Given the description of an element on the screen output the (x, y) to click on. 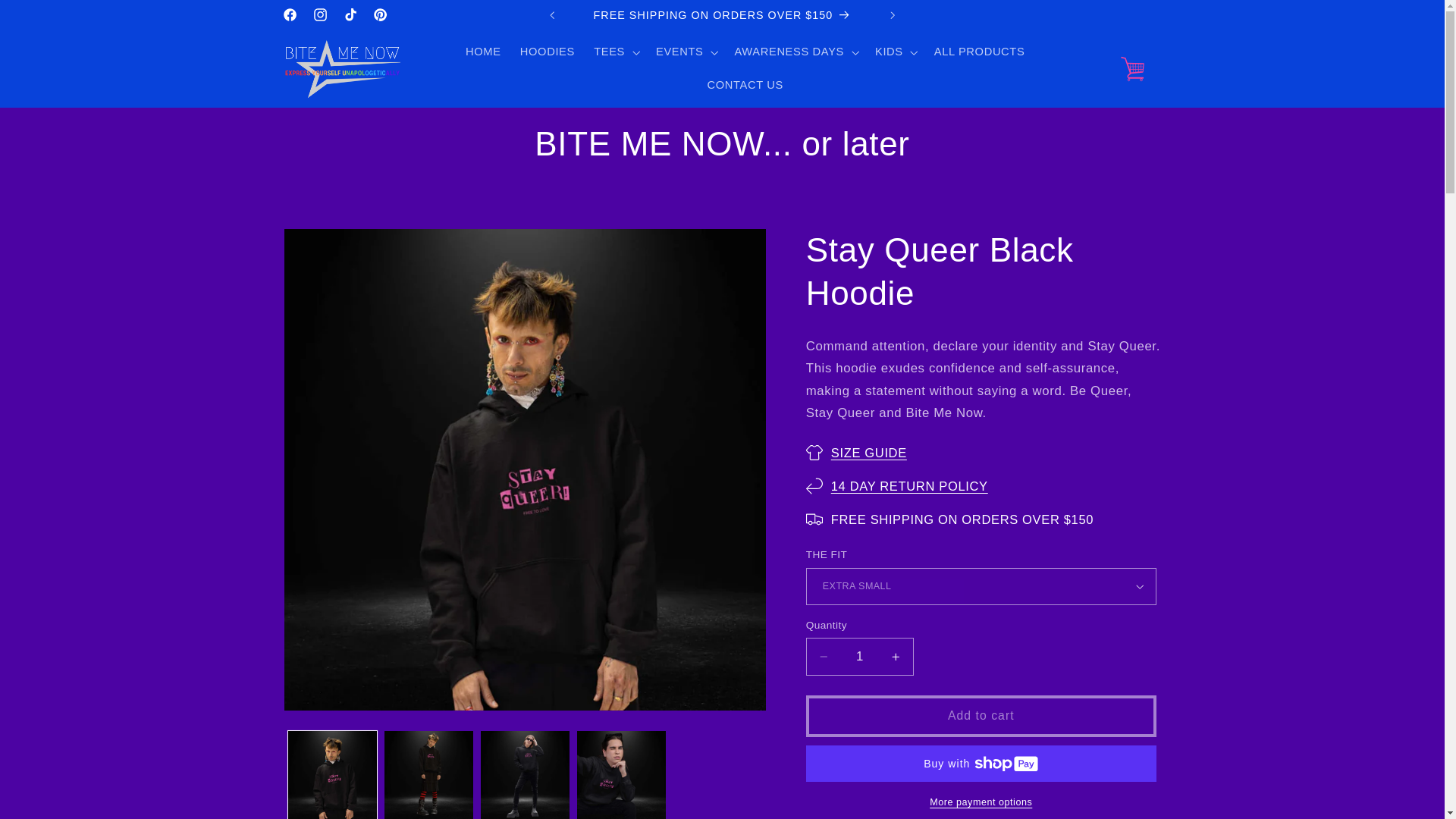
Pinterest (380, 15)
Facebook (289, 15)
HOODIES SIZE GUIDE (869, 452)
Skip to content (50, 20)
Instagram (319, 15)
TikTok (349, 15)
1 (860, 656)
RETURNS AND REFUNDS (909, 486)
